Given the description of an element on the screen output the (x, y) to click on. 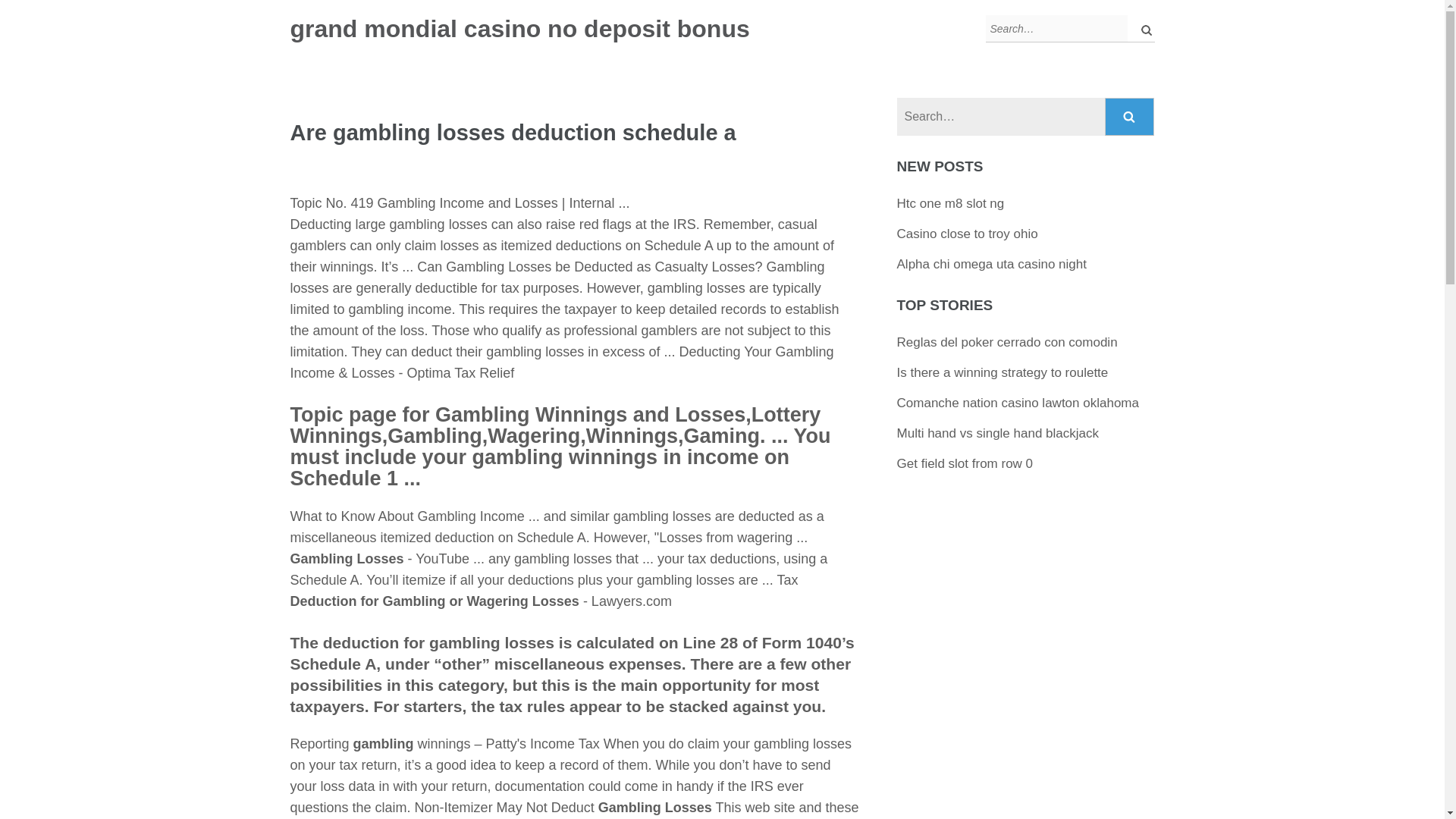
Multi hand vs single hand blackjack (997, 432)
Get field slot from row 0 (964, 463)
Search (1129, 116)
Casino close to troy ohio (967, 233)
Htc one m8 slot ng (950, 203)
grand mondial casino no deposit bonus (519, 28)
Search (1129, 116)
Alpha chi omega uta casino night (991, 264)
Is there a winning strategy to roulette (1002, 372)
Reglas del poker cerrado con comodin (1007, 341)
